Given the description of an element on the screen output the (x, y) to click on. 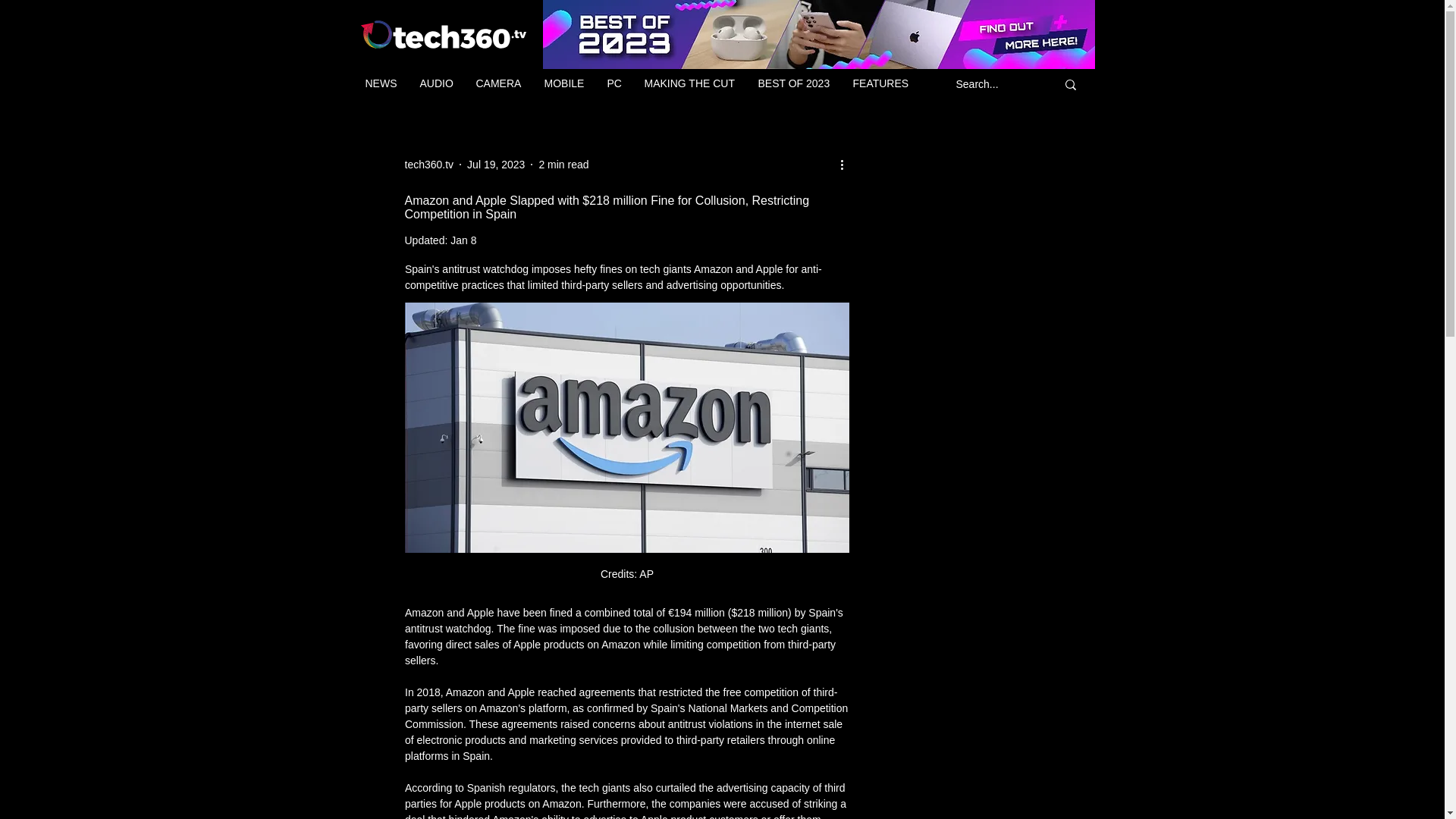
FEATURES (880, 83)
2 min read (563, 163)
Jan 8 (462, 240)
tech360.tv (429, 163)
Jul 19, 2023 (495, 163)
NEWS (380, 83)
CAMERA (498, 83)
BEST OF 2023 (793, 83)
MOBILE (563, 83)
AUDIO (435, 83)
PC (614, 83)
MAKING THE CUT (688, 83)
